Given the description of an element on the screen output the (x, y) to click on. 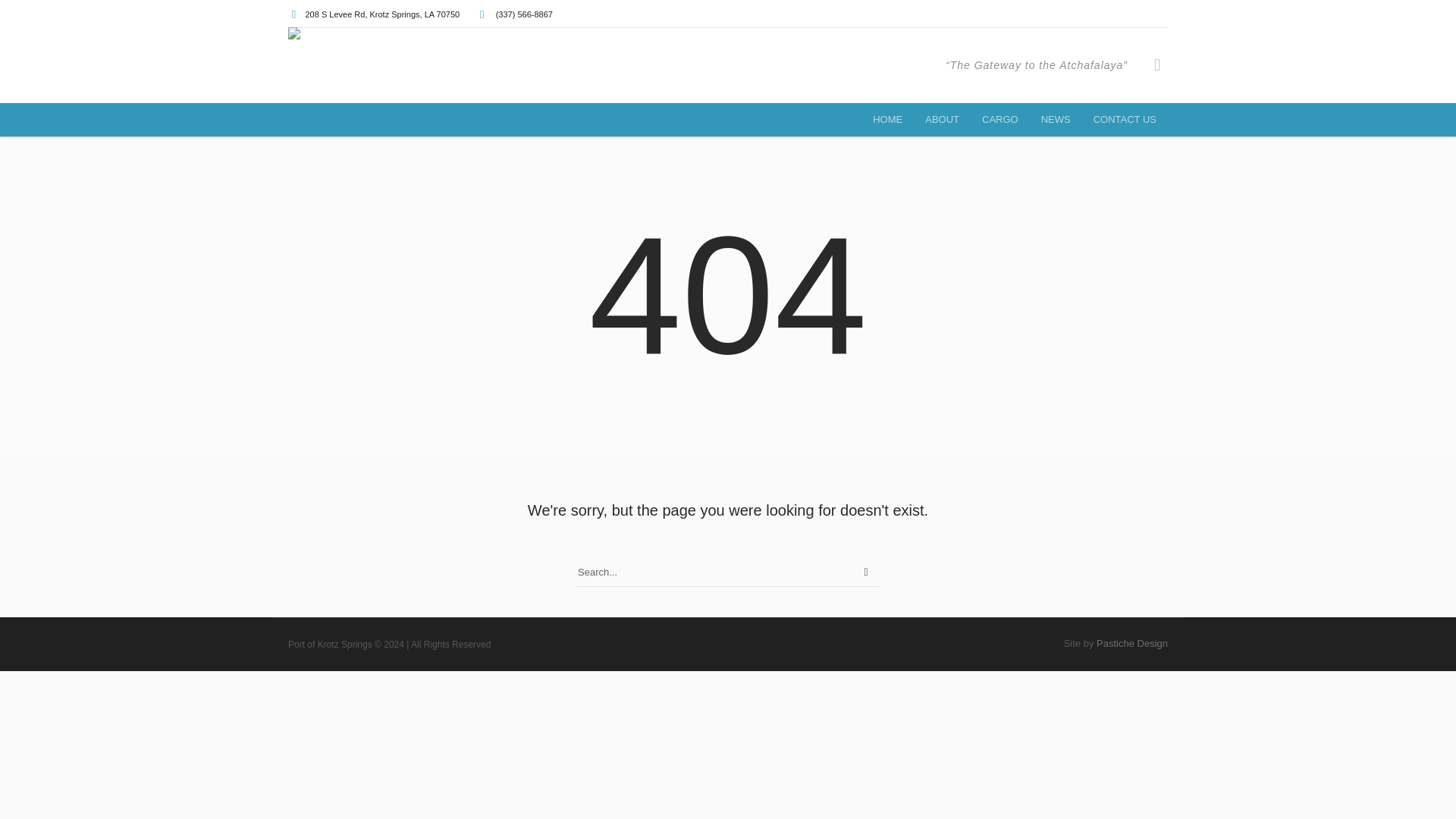
Pastiche Design (1131, 643)
HOME (887, 119)
Home (887, 119)
NEWS (1055, 119)
CARGO (1000, 119)
208 S Levee Rd, Krotz Springs, LA 70750 (382, 13)
ABOUT (942, 119)
CONTACT US (1124, 119)
